Given the description of an element on the screen output the (x, y) to click on. 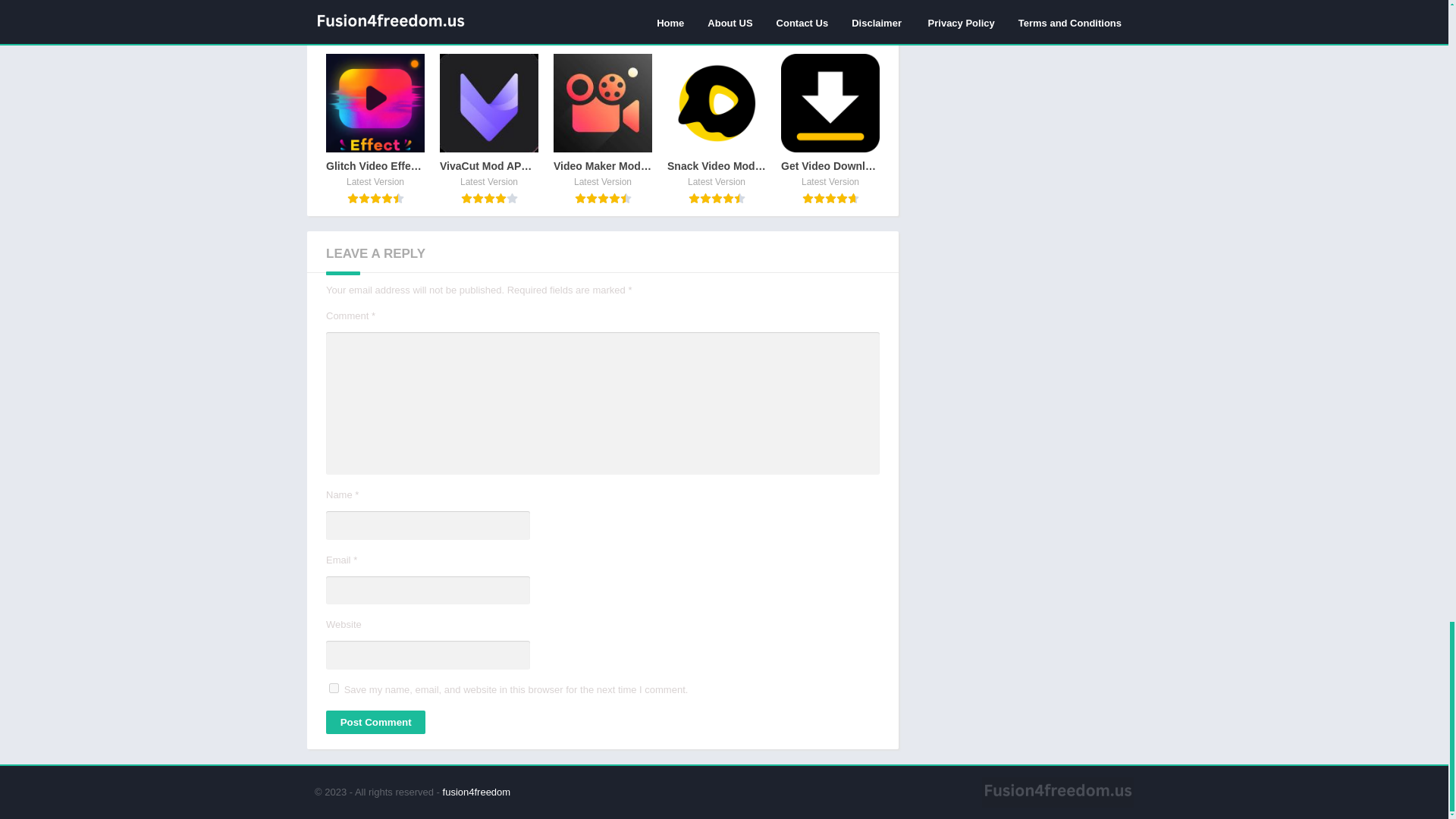
Post Comment (375, 721)
Post Comment (375, 721)
yes (334, 687)
